Given the description of an element on the screen output the (x, y) to click on. 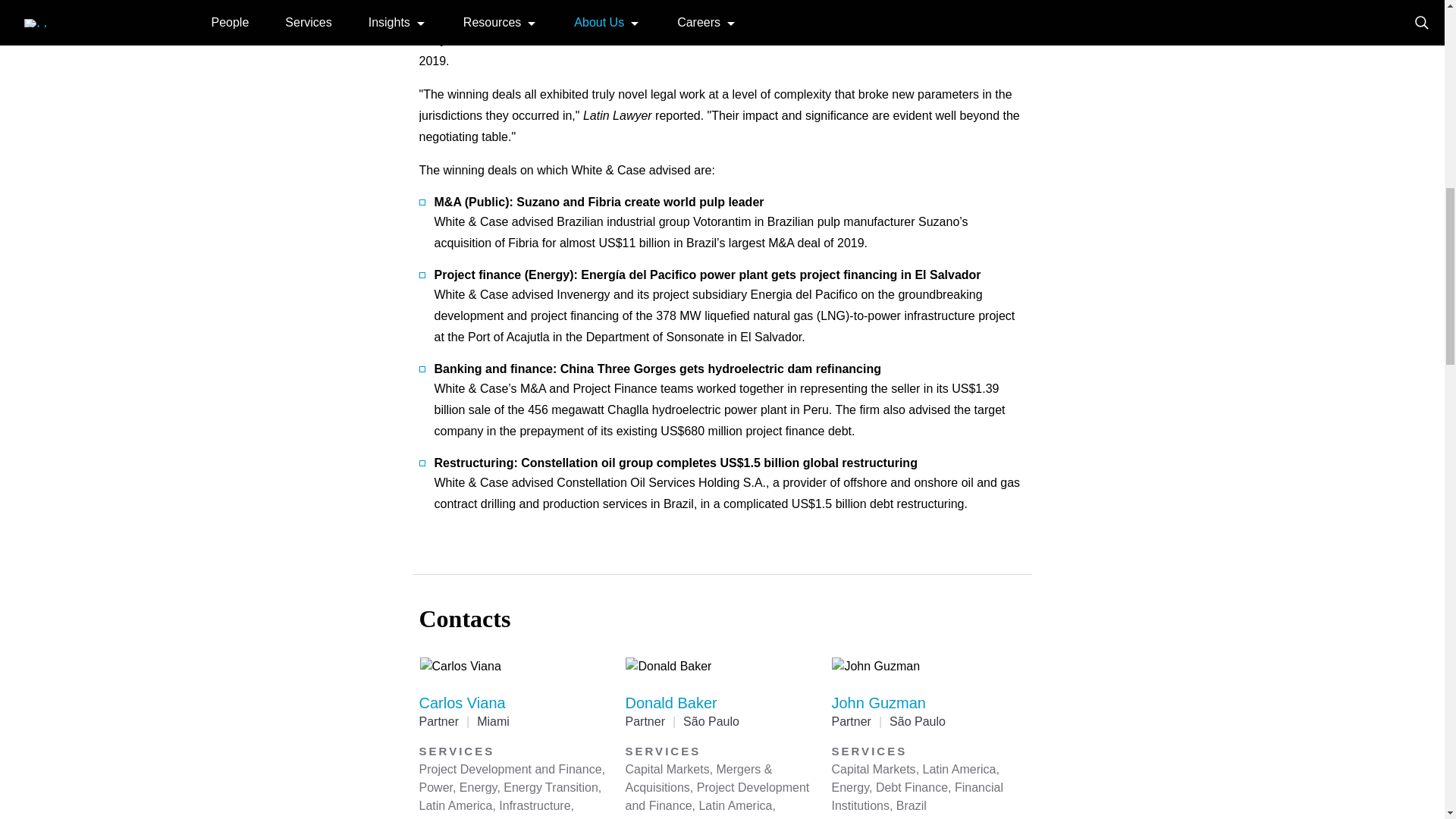
Donald Baker (670, 702)
Carlos Viana (462, 702)
John Guzman (878, 702)
